Given the description of an element on the screen output the (x, y) to click on. 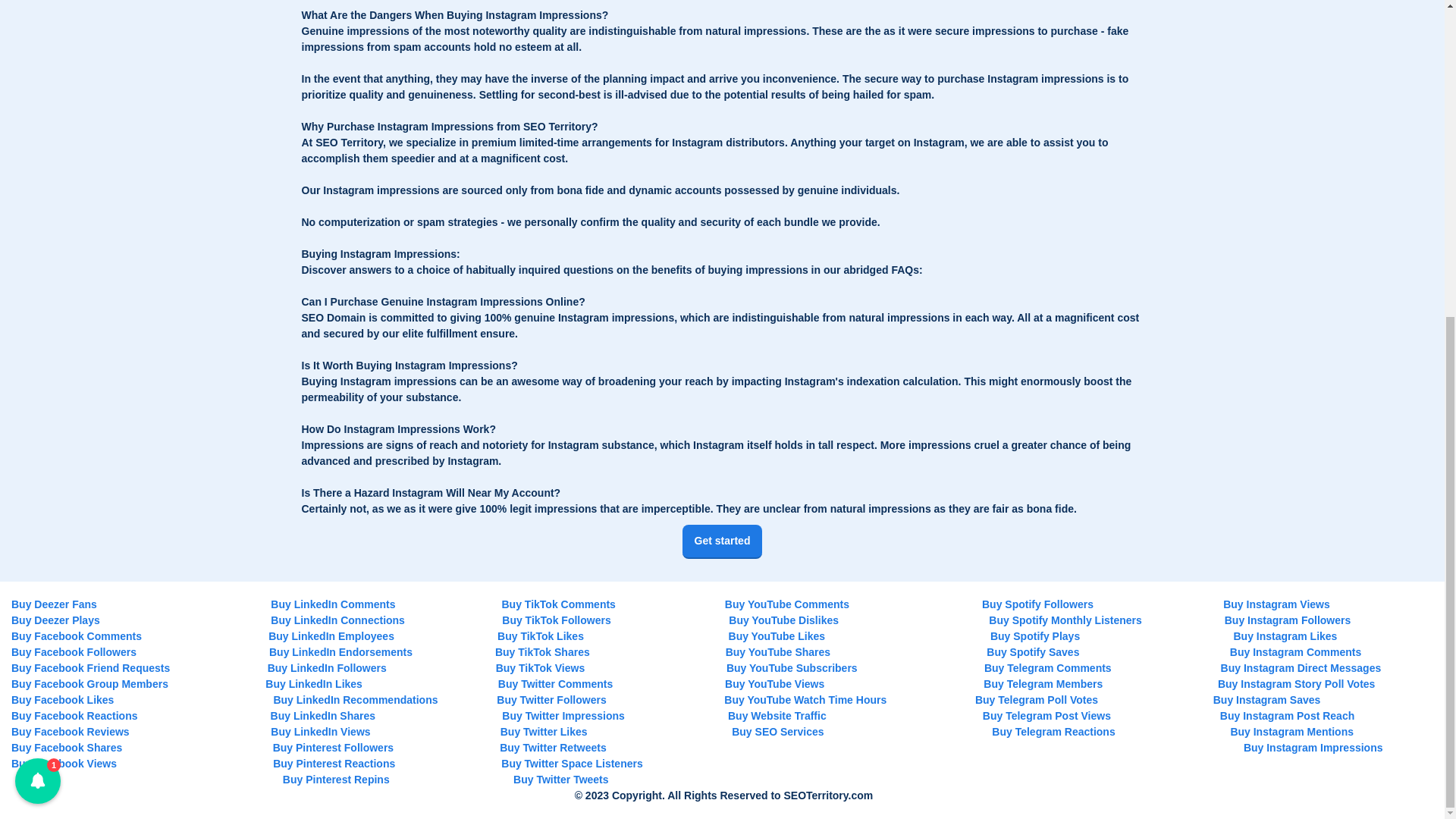
Buy Instagram Followers (1287, 620)
Buy YouTube Shares (777, 652)
Buy TikTok Comments (558, 604)
Buy LinkedIn Comments (332, 604)
Buy Instagram Views (1276, 604)
Buy LinkedIn Connections (337, 620)
Buy Deezer Plays (55, 620)
Buy YouTube Likes (777, 635)
Buy Instagram Direct Messages (1301, 667)
Buy Instagram Comments (1295, 652)
